Given the description of an element on the screen output the (x, y) to click on. 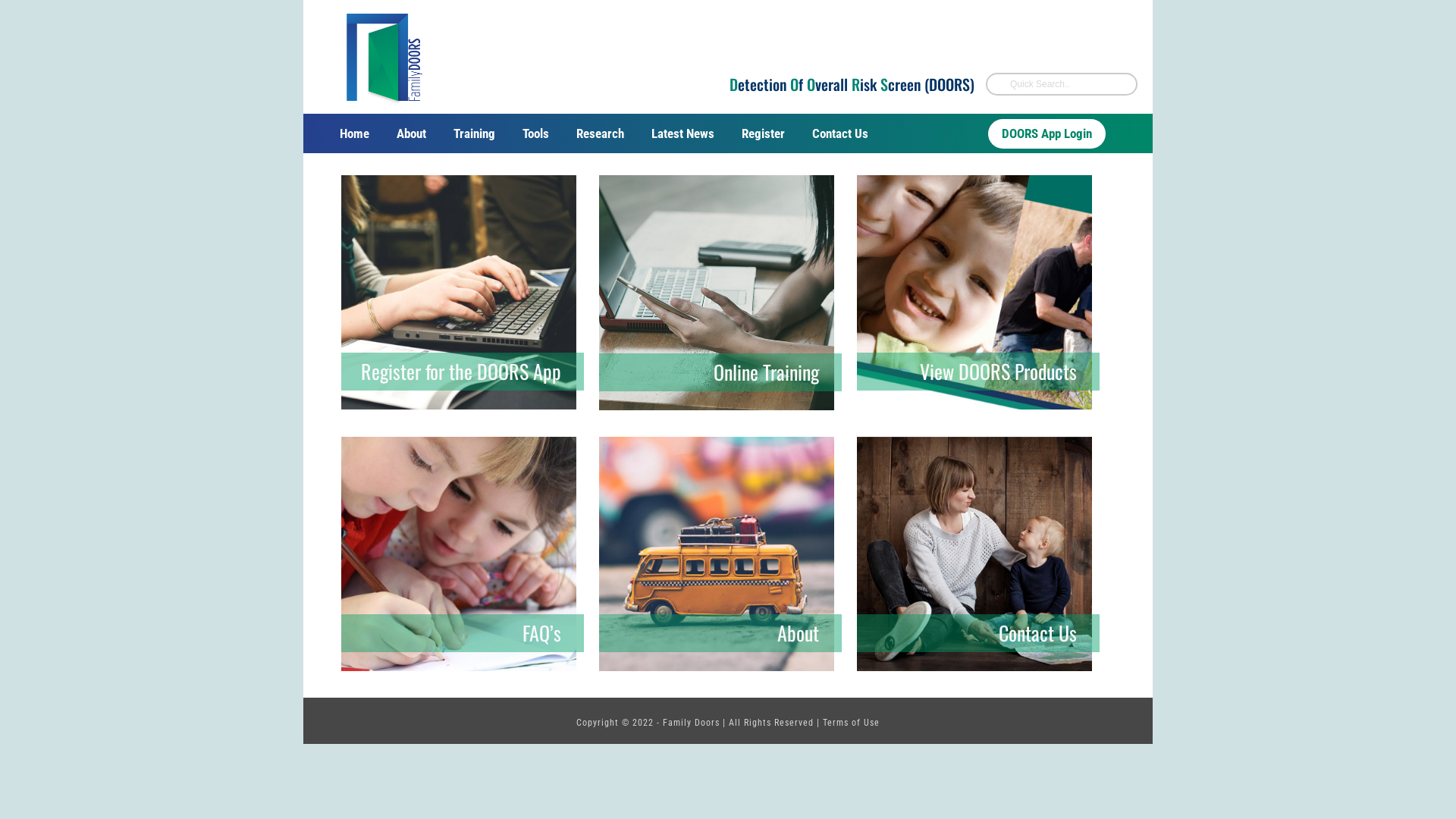
Latest News Element type: text (682, 133)
Family DOORS Element type: hover (382, 56)
Register Element type: text (763, 133)
Tools Element type: text (535, 133)
DOORS App Login Element type: text (1046, 133)
Research Element type: text (599, 133)
Home Element type: text (354, 133)
Terms of Use Element type: text (850, 722)
Training Element type: text (473, 133)
Contact Us Element type: text (839, 133)
About Element type: text (410, 133)
